Given the description of an element on the screen output the (x, y) to click on. 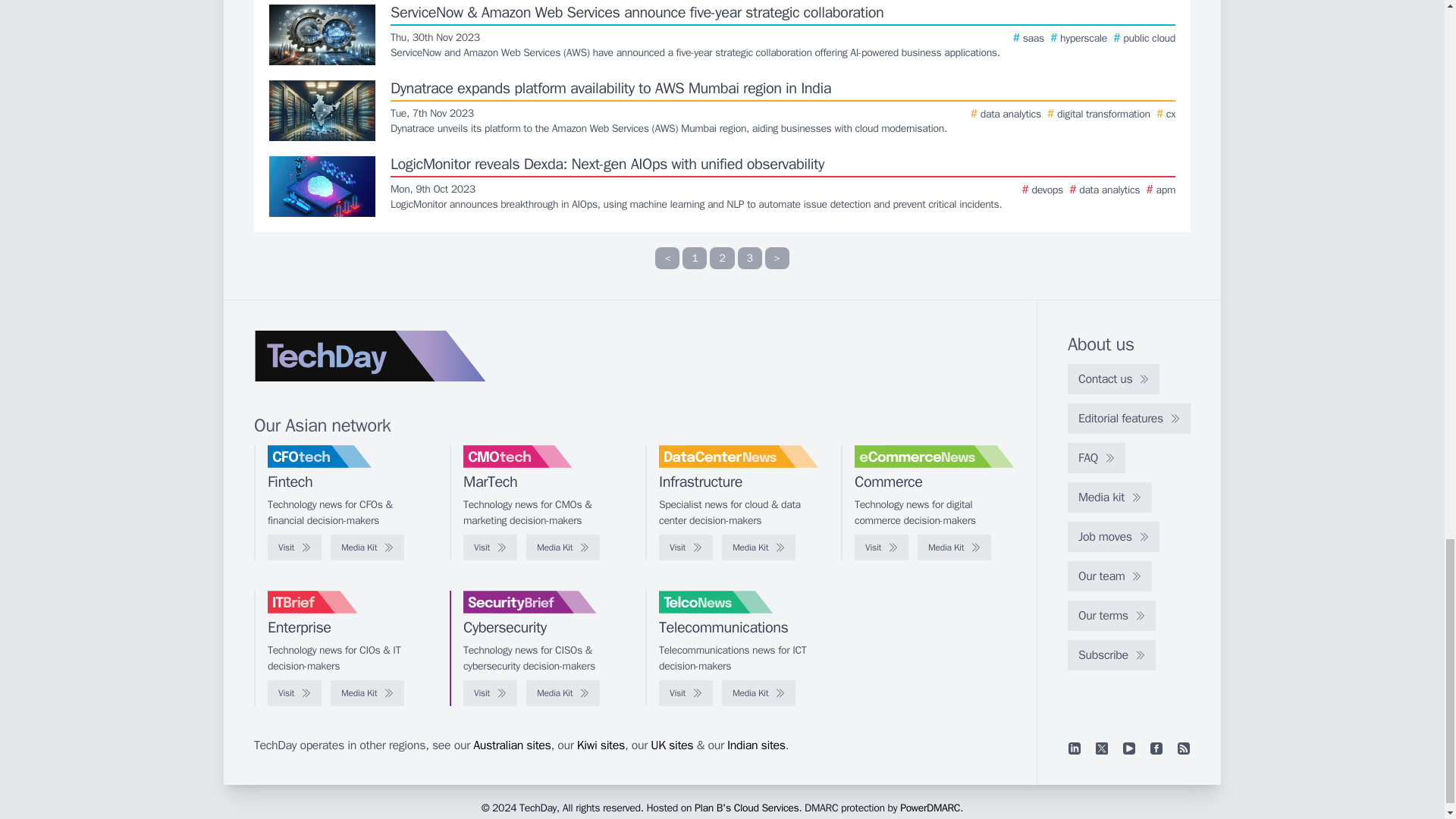
1 (694, 258)
Media Kit (562, 547)
Visit (294, 547)
Visit (489, 547)
2 (721, 258)
Media Kit (367, 547)
3 (749, 258)
